Given the description of an element on the screen output the (x, y) to click on. 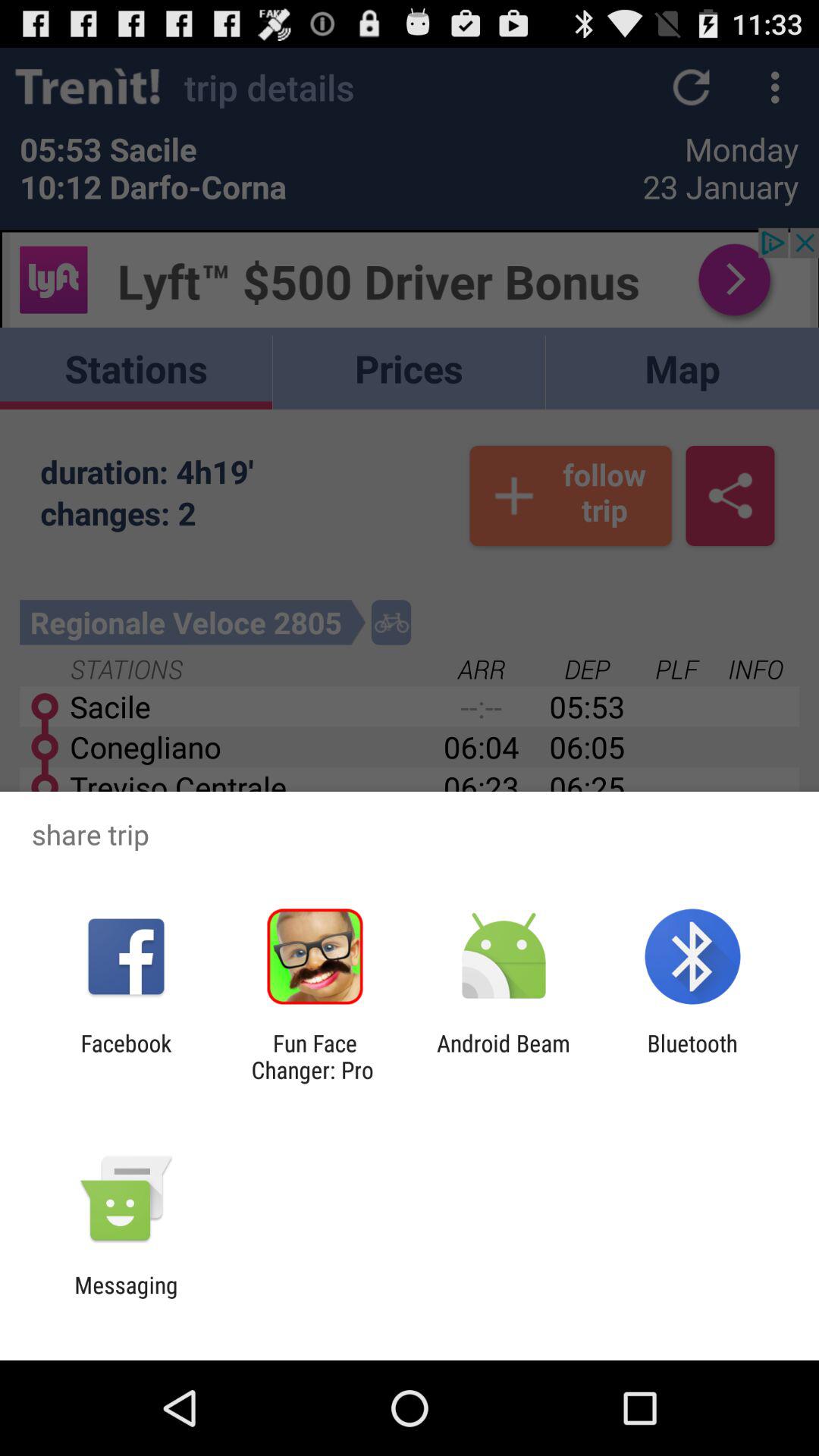
turn on the app to the left of bluetooth (503, 1056)
